Given the description of an element on the screen output the (x, y) to click on. 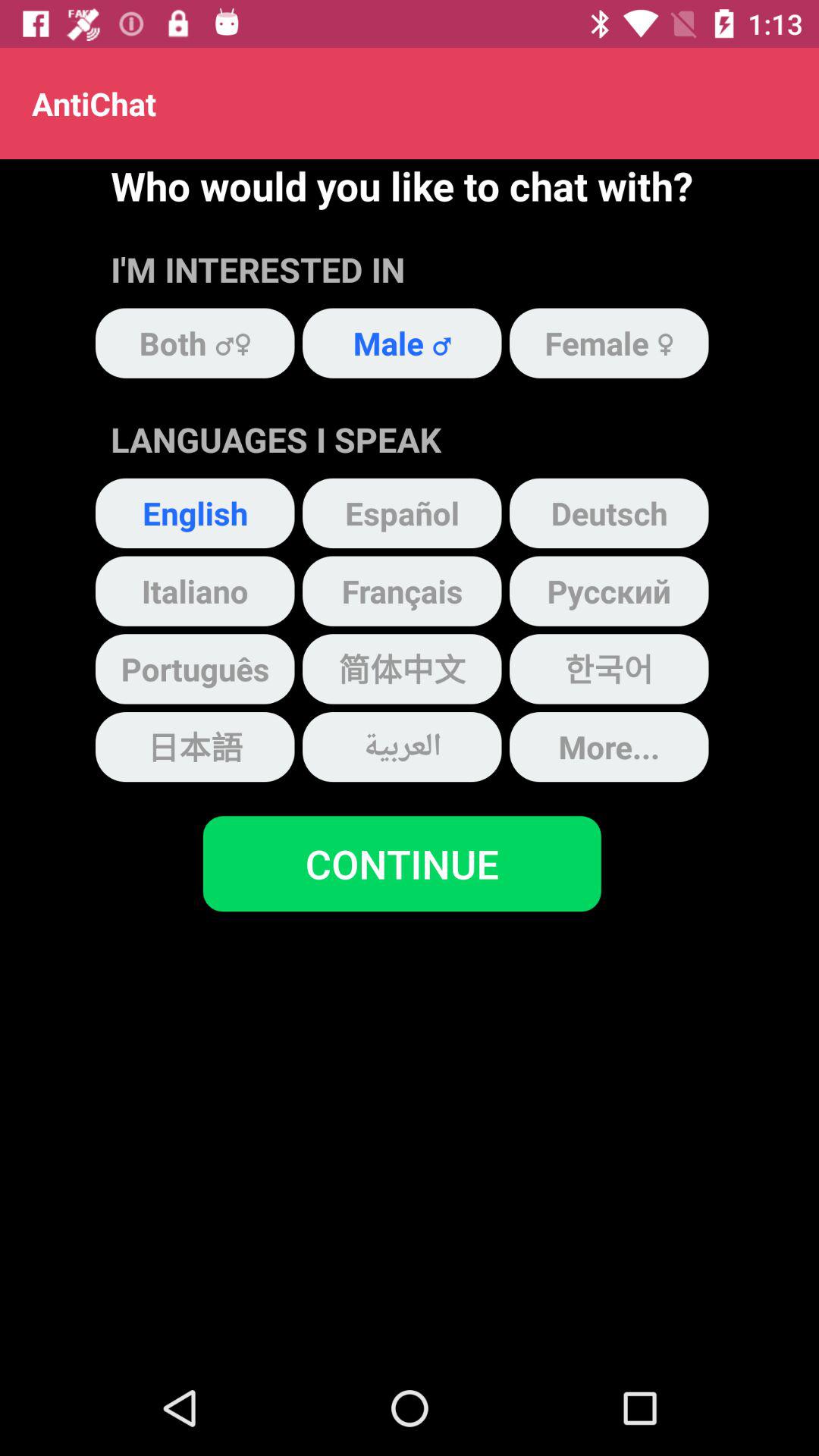
scroll to the italiano (194, 591)
